Given the description of an element on the screen output the (x, y) to click on. 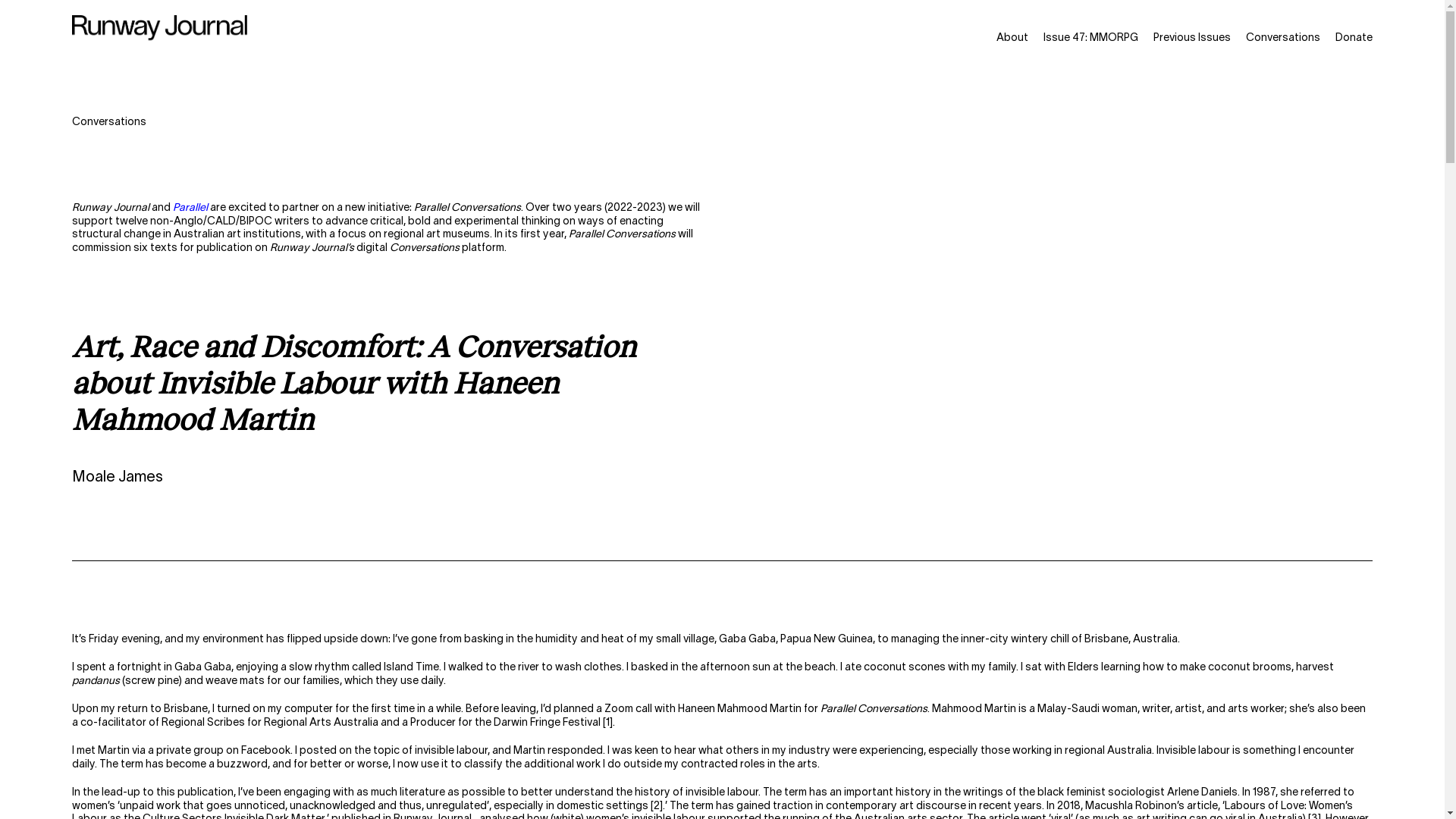
Issue 47: MMORPG Element type: text (1090, 38)
Donate Element type: text (1353, 38)
About Element type: text (1012, 38)
Parallel Element type: text (189, 208)
Conversations Element type: text (1282, 38)
Previous Issues Element type: text (1191, 38)
